Given the description of an element on the screen output the (x, y) to click on. 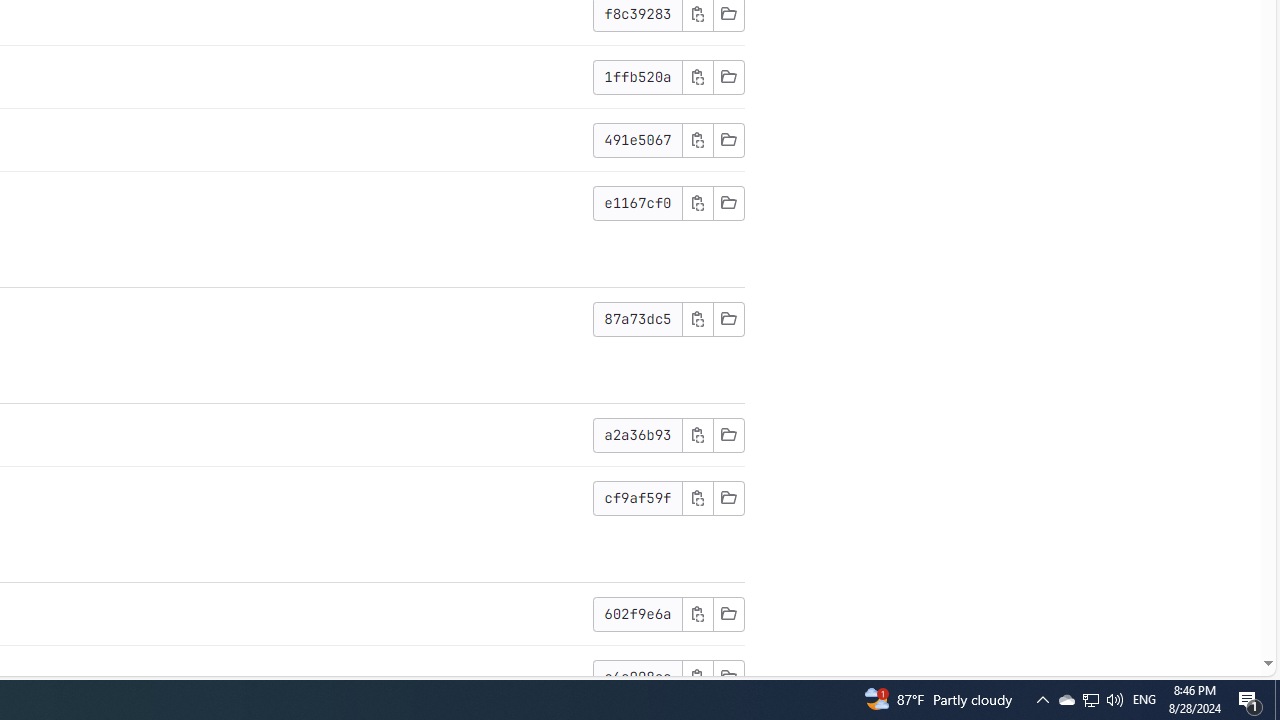
Copy commit SHA (697, 676)
Class: s16 (728, 676)
Browse Files (727, 676)
Class: s16 gl-icon gl-button-icon  (697, 676)
